Given the description of an element on the screen output the (x, y) to click on. 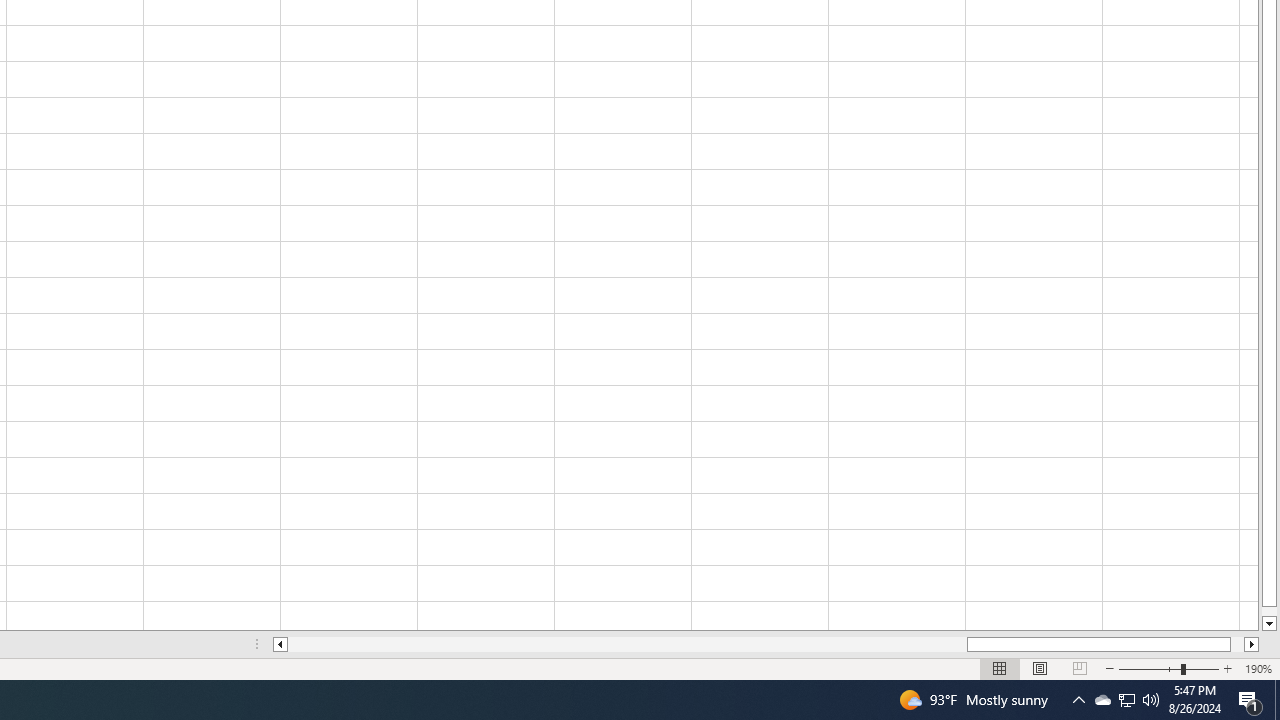
Page left (627, 644)
